Given the description of an element on the screen output the (x, y) to click on. 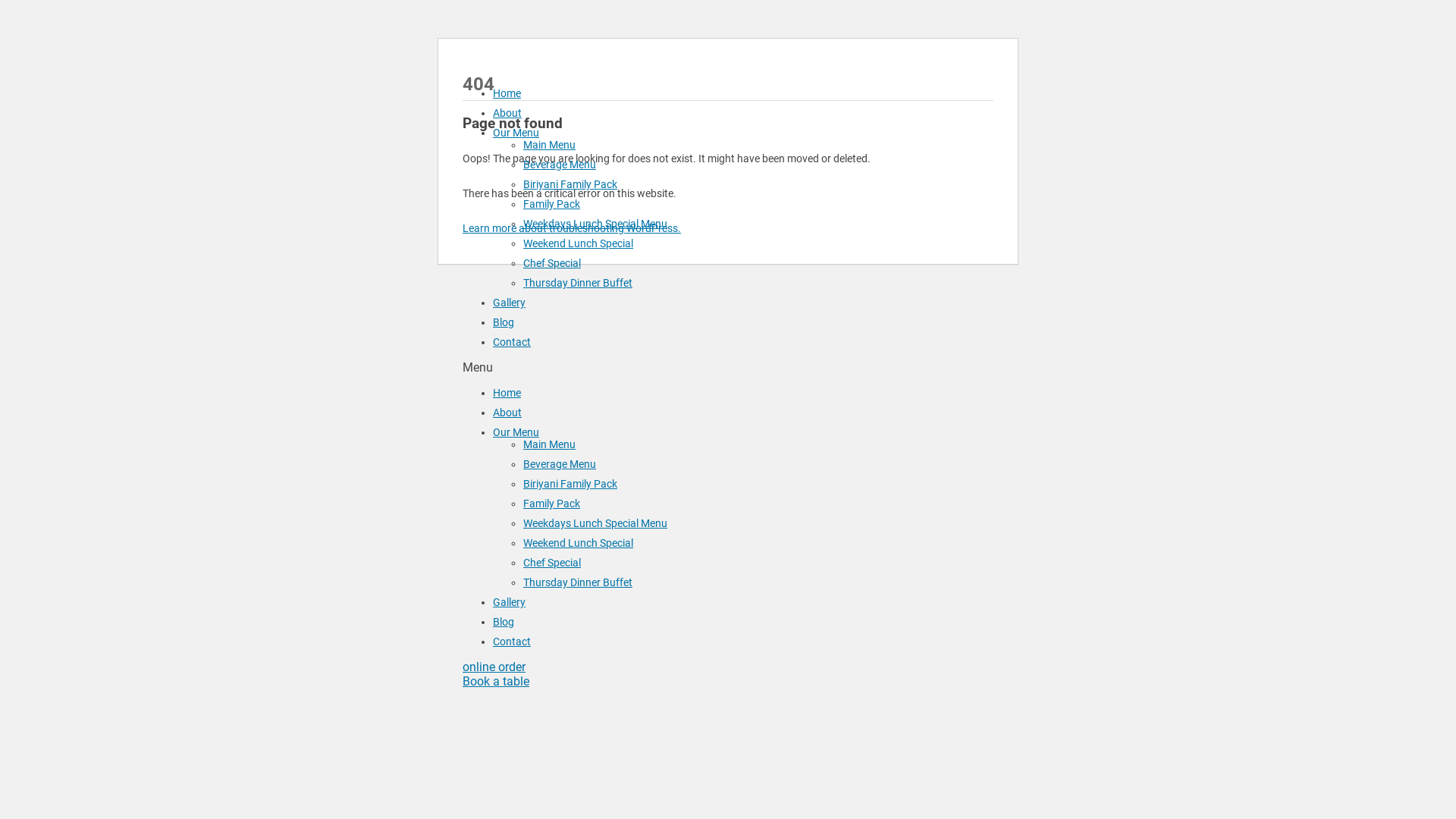
Gallery Element type: text (508, 302)
Weekdays Lunch Special Menu Element type: text (595, 223)
Family Pack Element type: text (551, 503)
Beverage Menu Element type: text (559, 164)
Learn more about troubleshooting WordPress. Element type: text (571, 228)
Home Element type: text (506, 392)
Home Element type: text (506, 93)
Contact Element type: text (511, 641)
Biriyani Family Pack Element type: text (570, 483)
Beverage Menu Element type: text (559, 464)
Thursday Dinner Buffet Element type: text (577, 282)
Contact Element type: text (511, 341)
Chef Special Element type: text (551, 562)
Weekend Lunch Special Element type: text (578, 542)
online order Element type: text (493, 666)
Our Menu Element type: text (515, 432)
Weekend Lunch Special Element type: text (578, 243)
Family Pack Element type: text (551, 203)
Biriyani Family Pack Element type: text (570, 184)
Main Menu Element type: text (549, 144)
Our Menu Element type: text (515, 132)
Blog Element type: text (503, 621)
About Element type: text (506, 112)
Blog Element type: text (503, 322)
Gallery Element type: text (508, 602)
Book a table Element type: text (495, 681)
Weekdays Lunch Special Menu Element type: text (595, 523)
About Element type: text (506, 412)
Thursday Dinner Buffet Element type: text (577, 582)
Chef Special Element type: text (551, 263)
Main Menu Element type: text (549, 444)
